Given the description of an element on the screen output the (x, y) to click on. 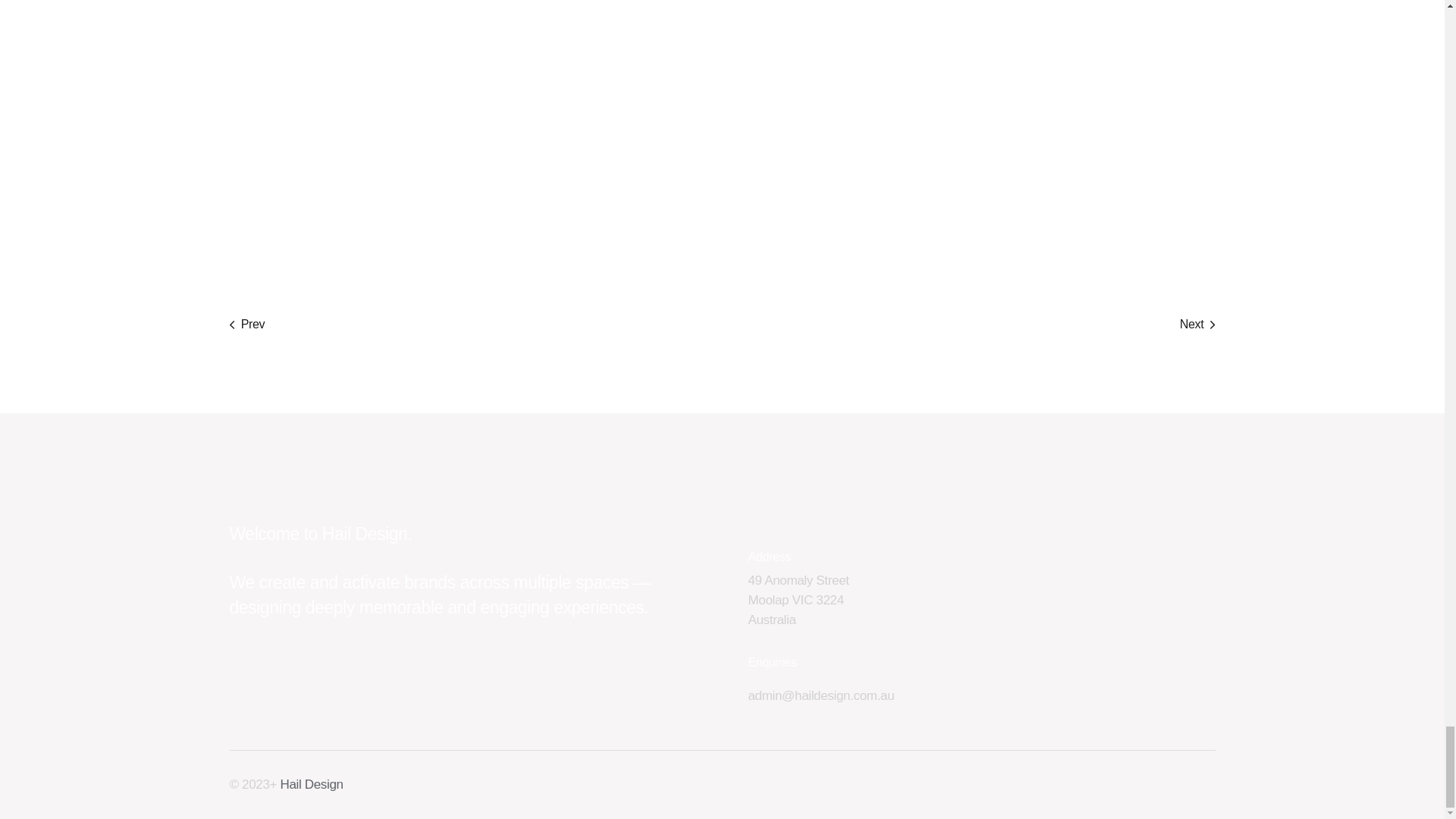
Hail Design (312, 784)
Next (798, 600)
Prev (1197, 324)
